Given the description of an element on the screen output the (x, y) to click on. 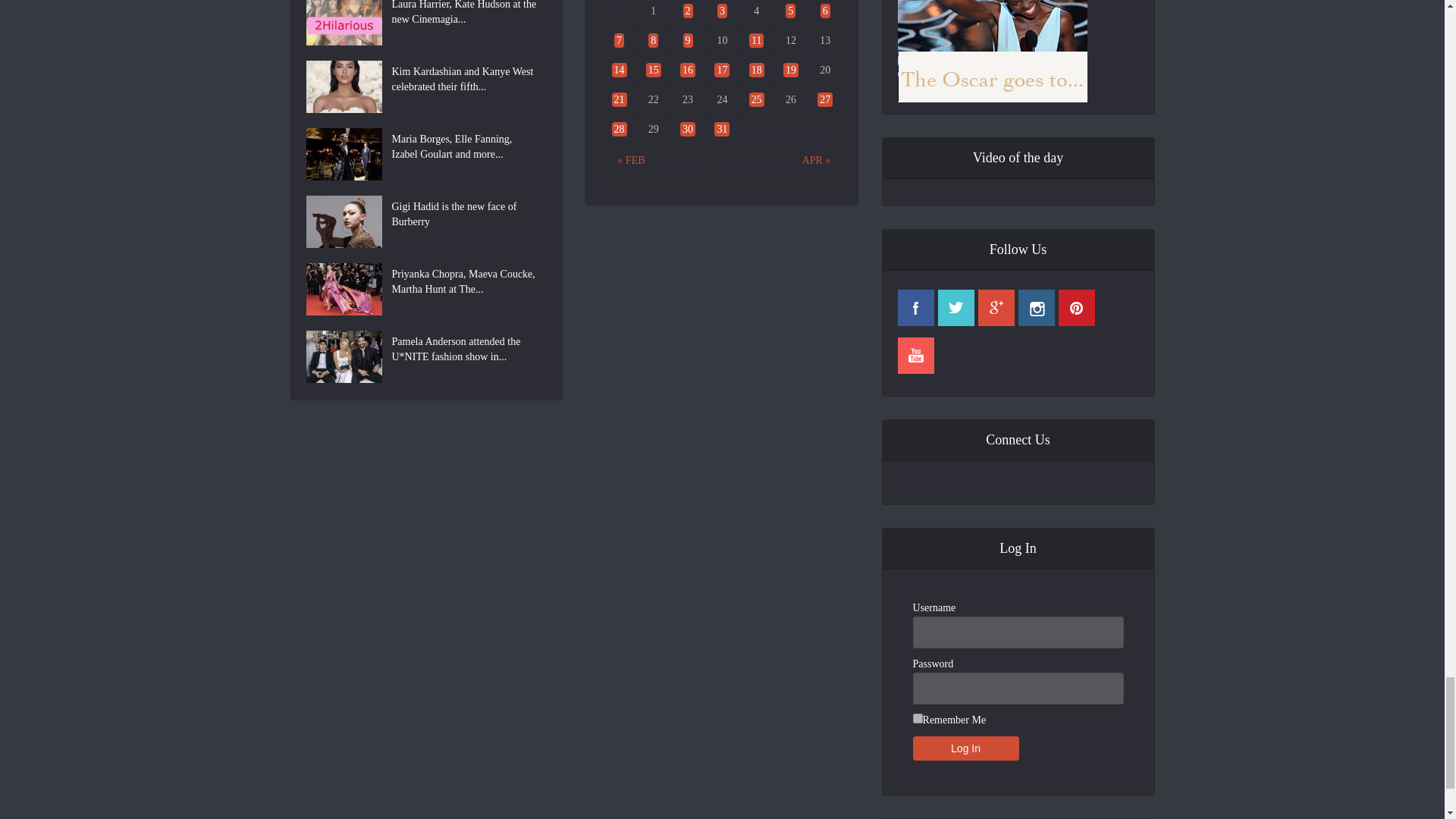
forever (917, 718)
Log In (965, 748)
